Given the description of an element on the screen output the (x, y) to click on. 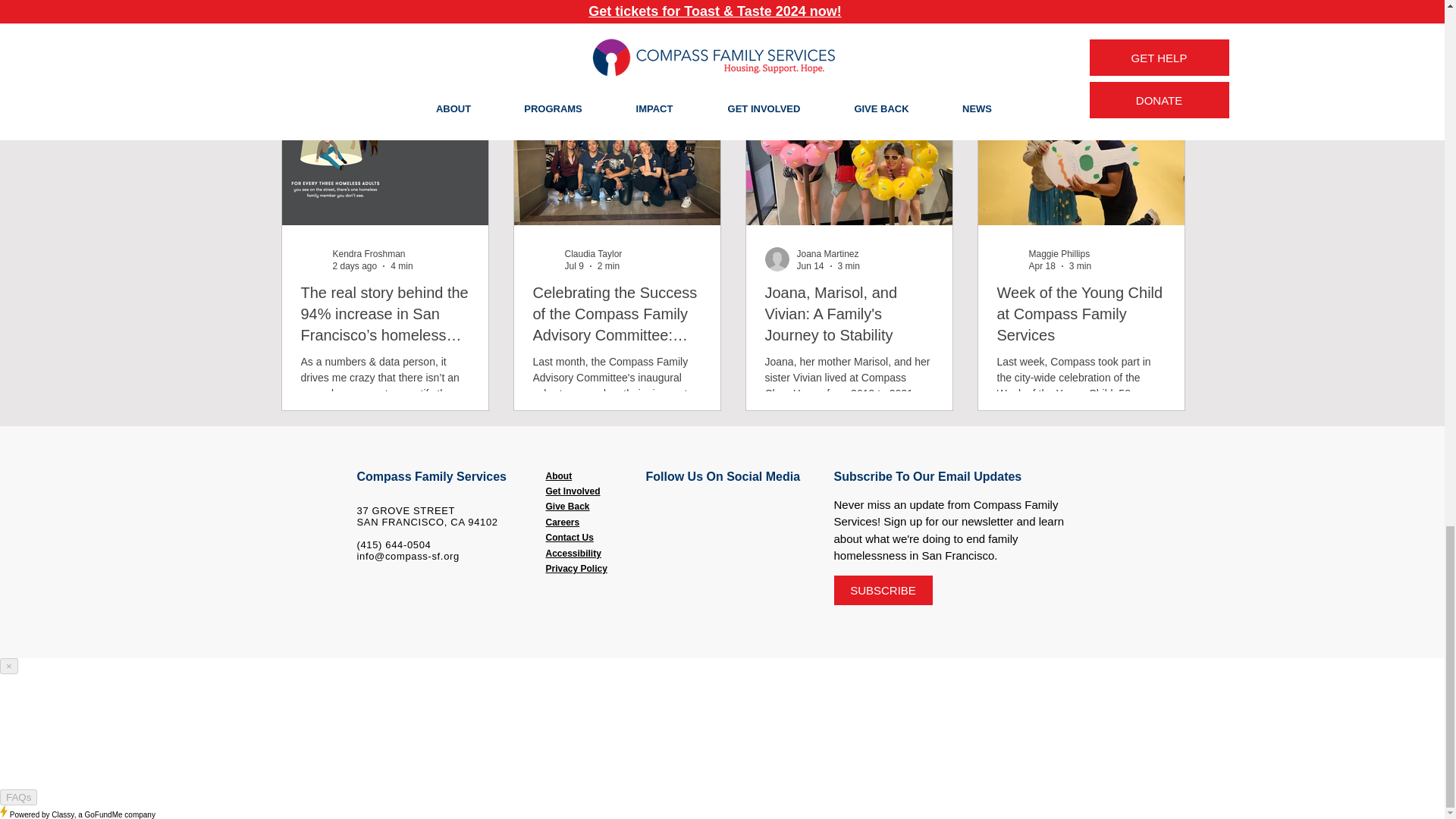
Kendra Froshman (367, 253)
Apr 18 (1040, 266)
2 min (608, 266)
Claudia Taylor (592, 253)
Jun 14 (810, 266)
3 min (1079, 266)
Joana Martinez (827, 253)
Maggie Phillips (1058, 253)
4 min (401, 266)
2 days ago (354, 266)
Jul 9 (573, 266)
3 min (849, 266)
